Given the description of an element on the screen output the (x, y) to click on. 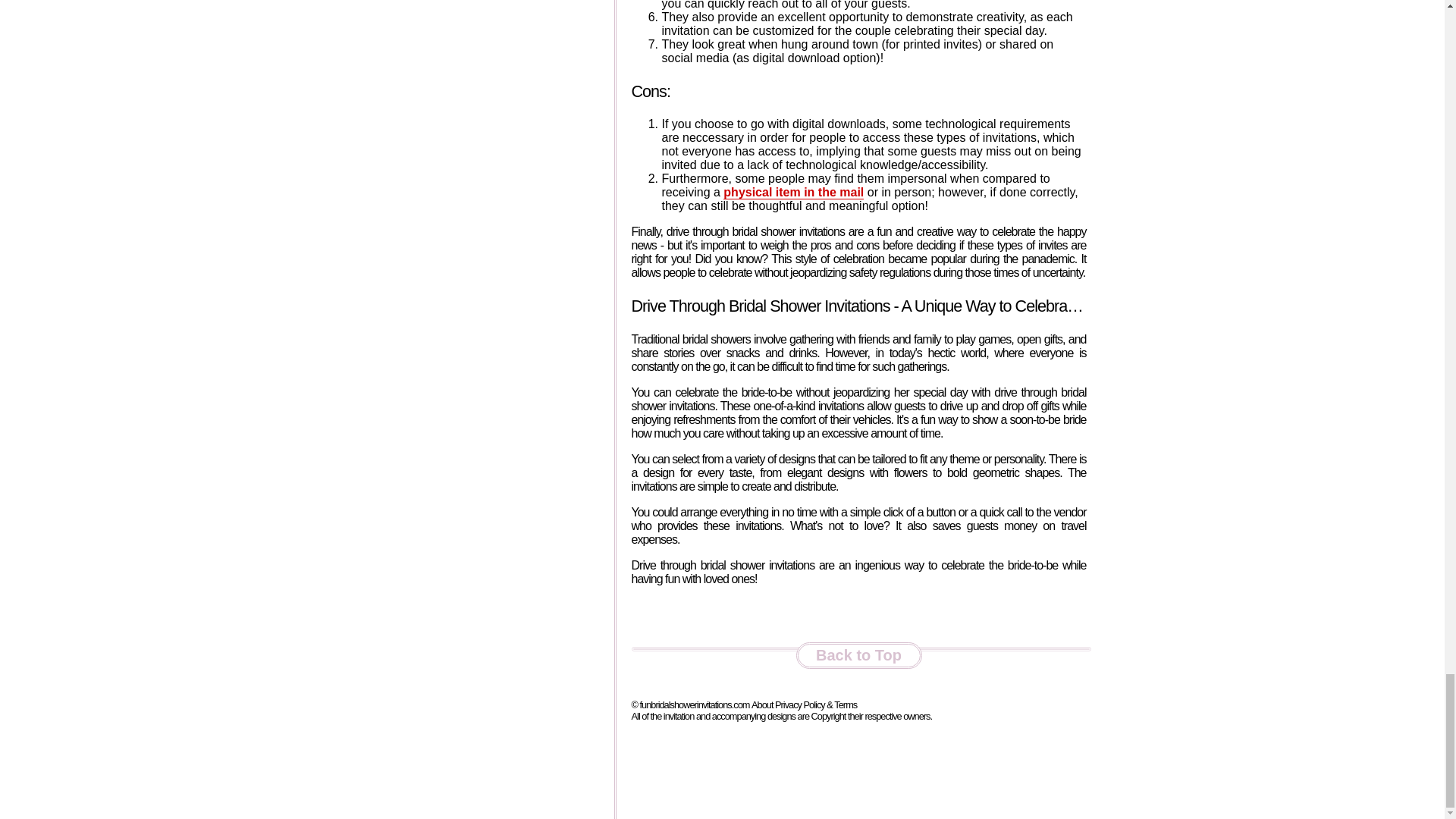
funbridalshowerinvitations.com (694, 704)
Privacy Policy (799, 704)
physical item in the mail (793, 192)
About (762, 704)
Terms (845, 704)
